Given the description of an element on the screen output the (x, y) to click on. 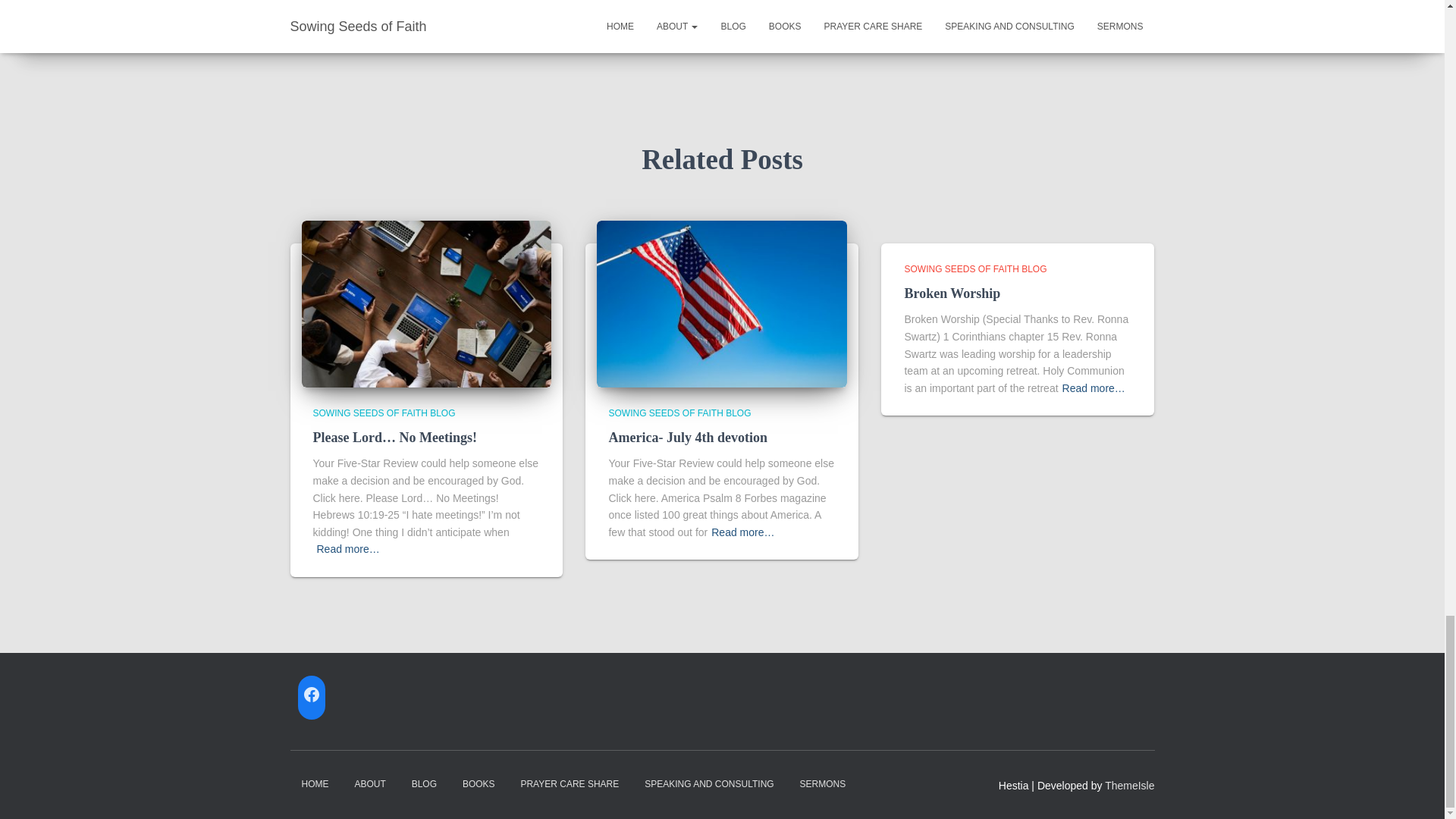
America- July 4th devotion (687, 437)
HOME (314, 784)
Broken Worship (952, 293)
BLOG (424, 784)
FACEBOOK (310, 694)
PRAYER CARE SHARE (569, 784)
SOWING SEEDS OF FAITH BLOG (975, 268)
BOOKS (478, 784)
SOWING SEEDS OF FAITH BLOG (679, 412)
ABOUT (369, 784)
SOWING SEEDS OF FAITH BLOG (383, 412)
View all posts in Sowing Seeds of Faith Blog (383, 412)
SPEAKING AND CONSULTING (708, 784)
